Given the description of an element on the screen output the (x, y) to click on. 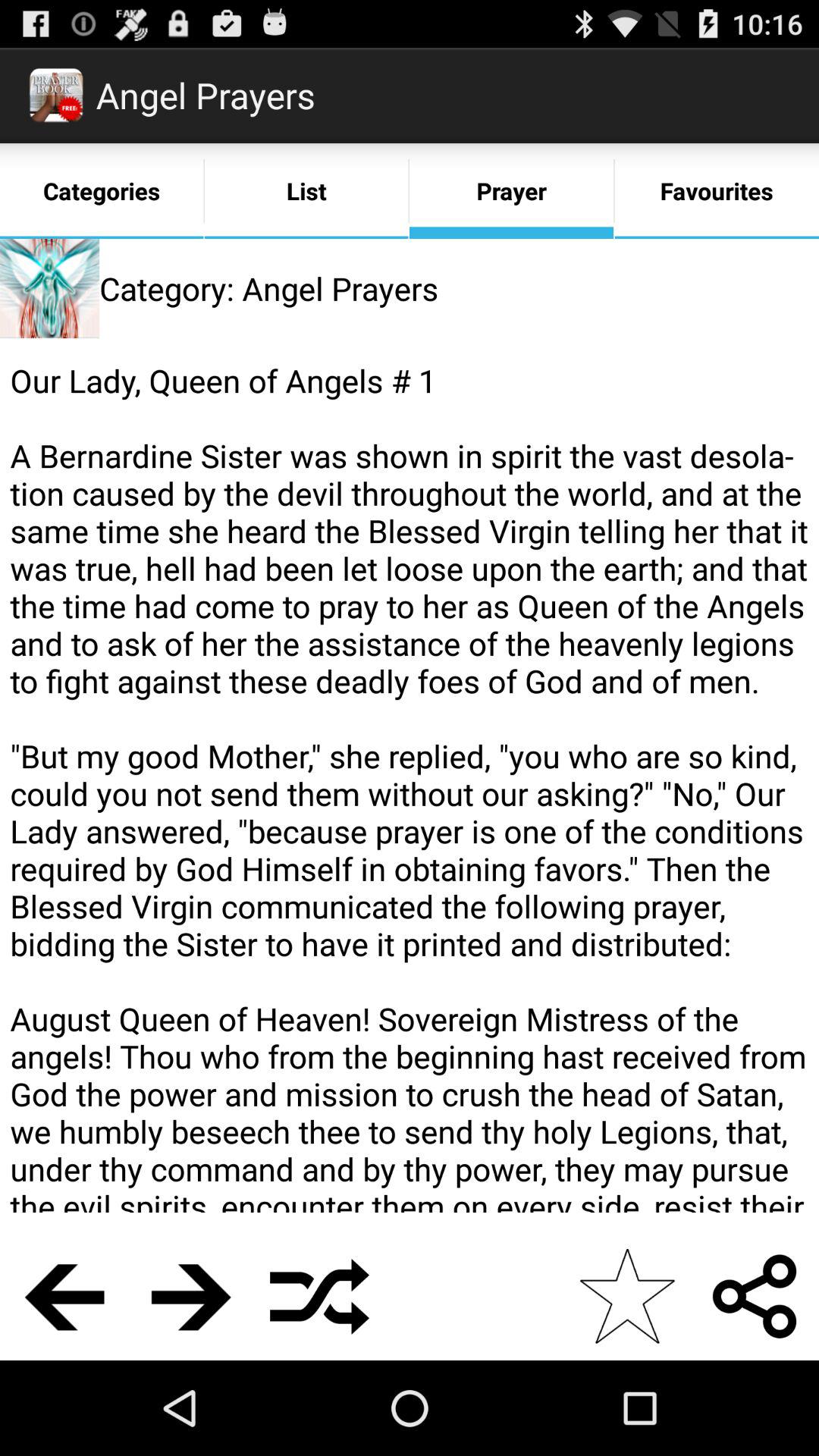
click the app below our lady queen app (626, 1296)
